Given the description of an element on the screen output the (x, y) to click on. 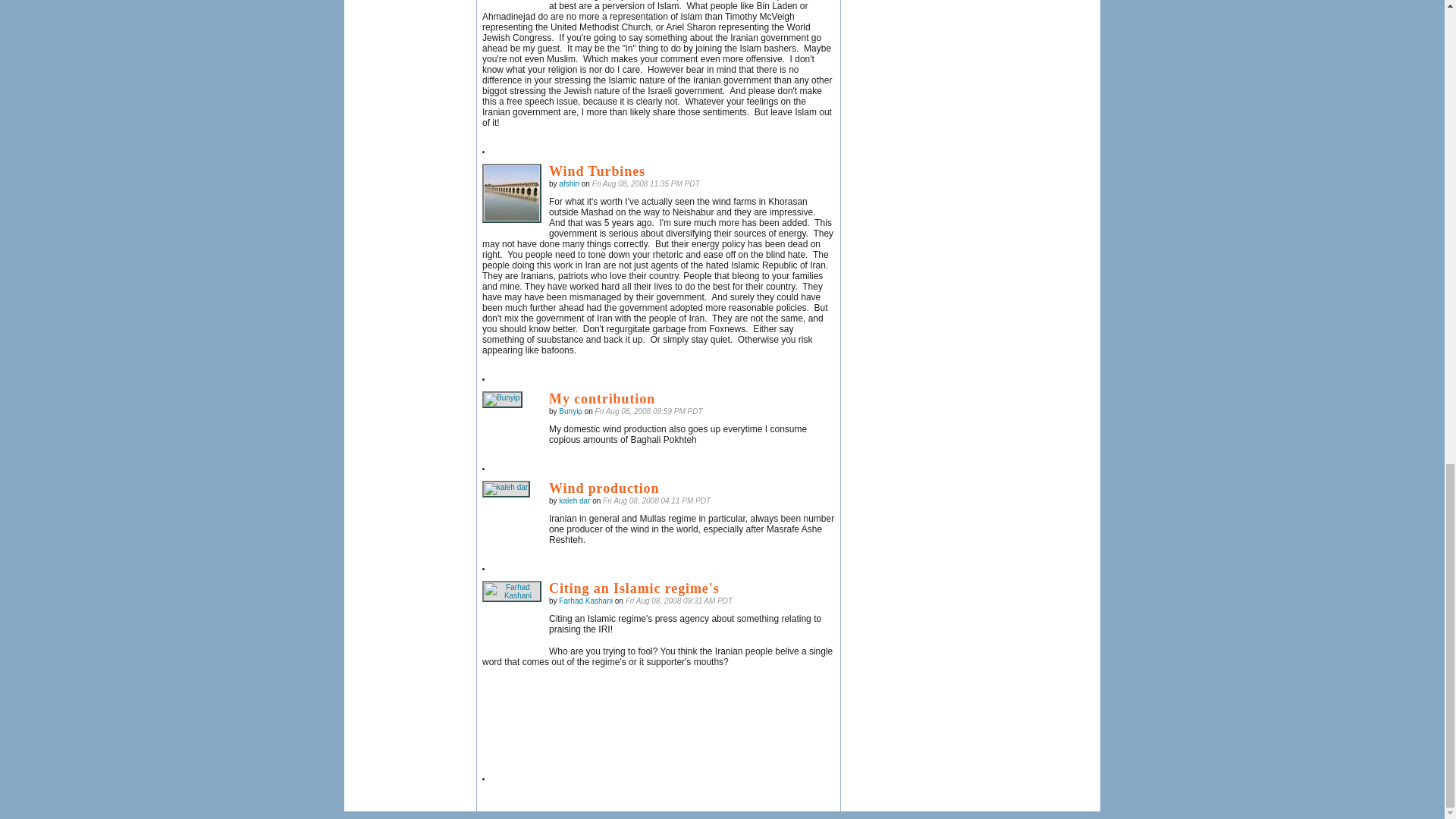
View user profile. (570, 411)
View user profile. (569, 183)
kaleh dar (505, 488)
Bunyip (501, 399)
View user profile. (585, 601)
afshin (511, 192)
View user profile. (574, 500)
Farhad Kashani (511, 590)
